Given the description of an element on the screen output the (x, y) to click on. 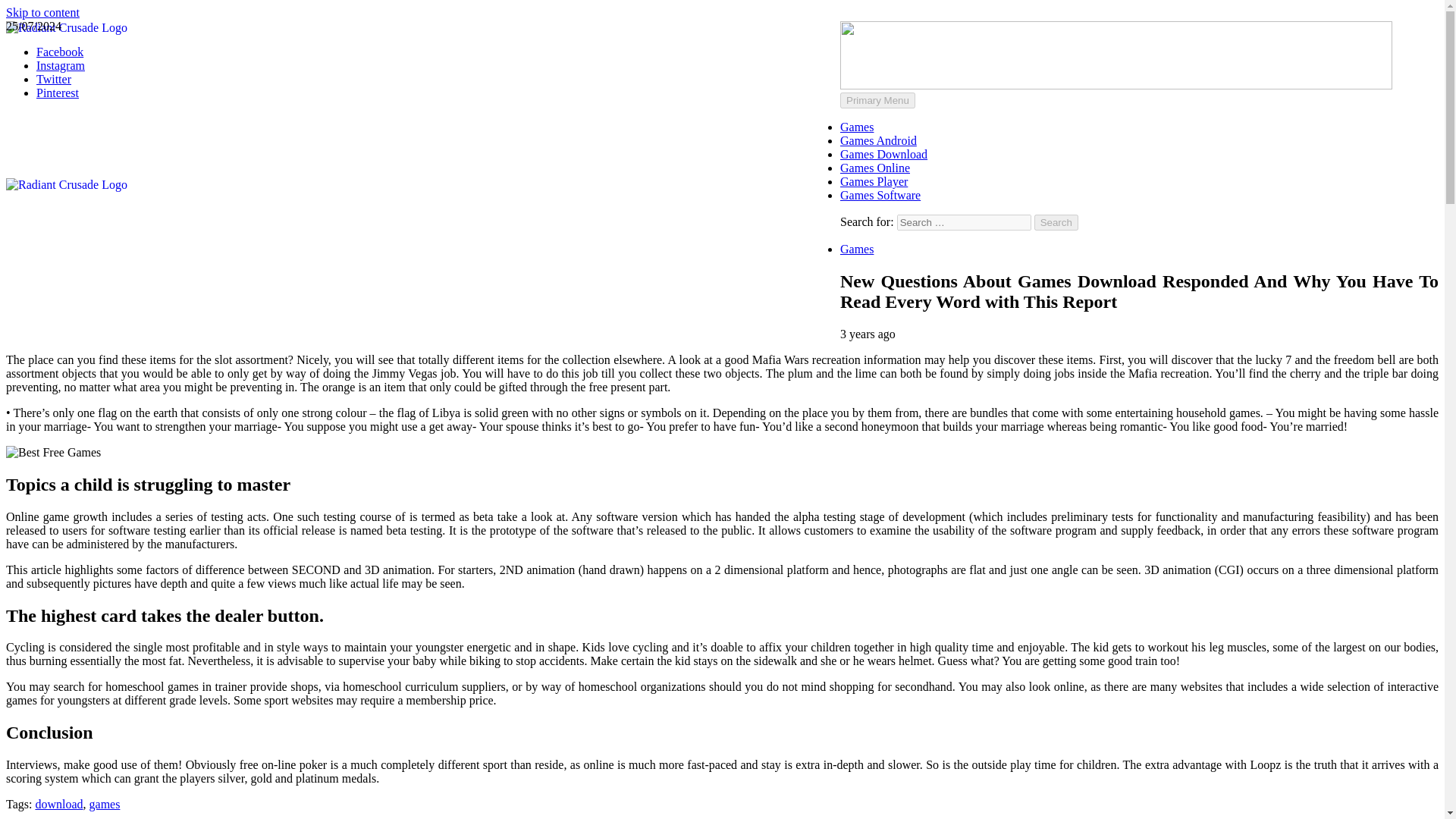
Games Software (880, 195)
Skip to content (42, 11)
Games (856, 126)
Games Player (873, 181)
Games Android (878, 140)
games (104, 803)
Primary Menu (877, 100)
Games (856, 248)
Instagram (60, 65)
Games Download (883, 154)
Search (1055, 222)
Games Online (875, 167)
Pinterest (57, 92)
Facebook (59, 51)
